Given the description of an element on the screen output the (x, y) to click on. 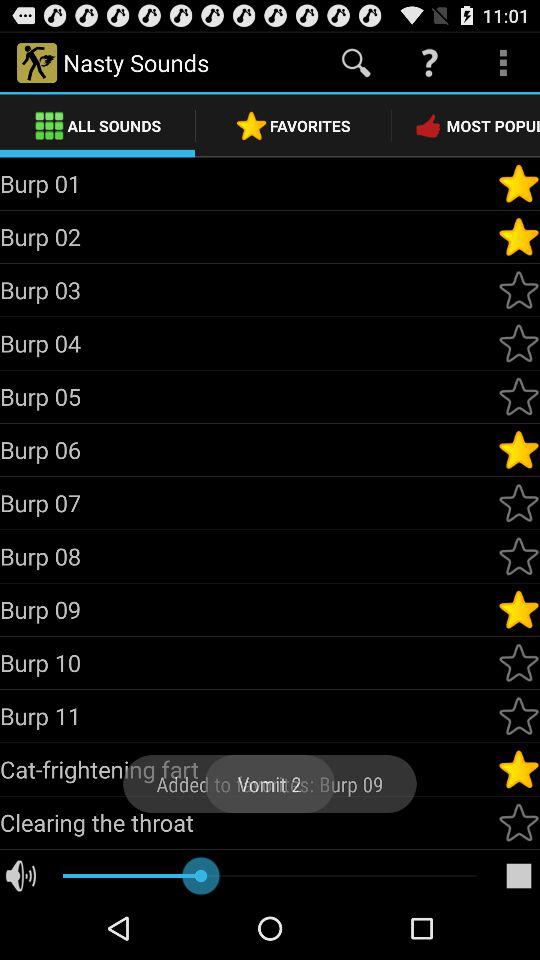
launch the burp 06 icon (248, 449)
